Given the description of an element on the screen output the (x, y) to click on. 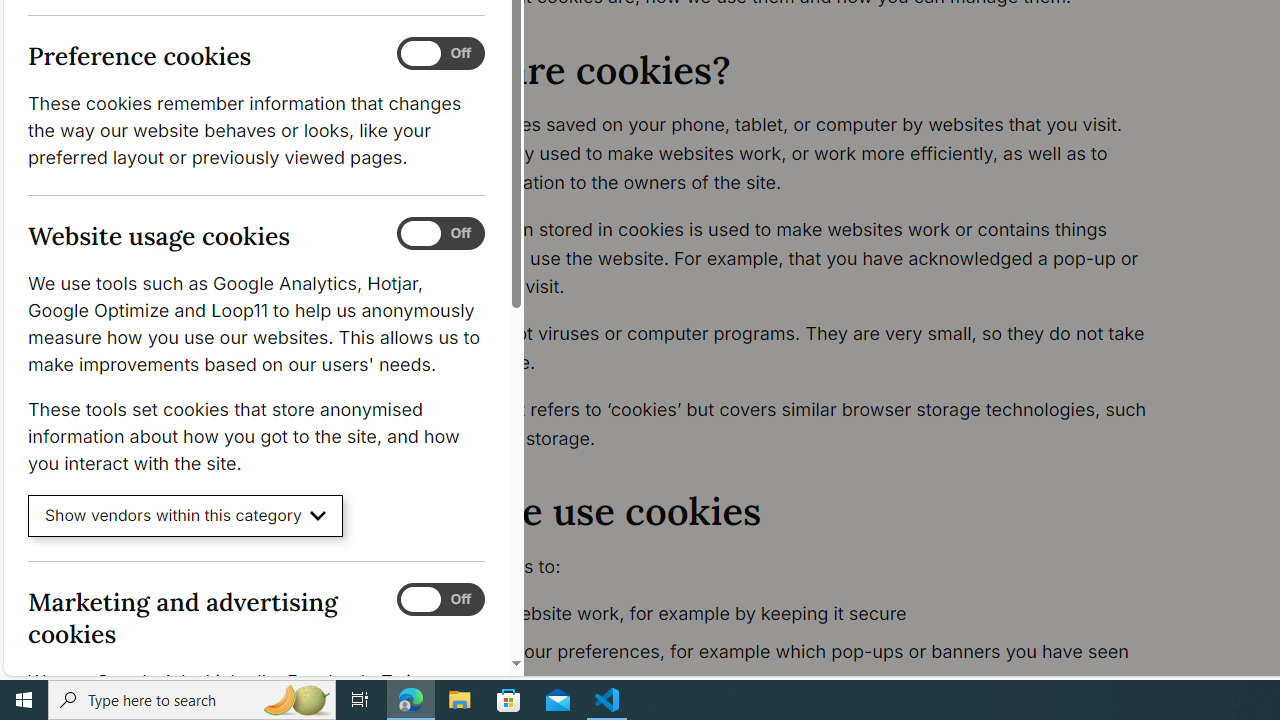
Preference cookies (440, 53)
Show vendors within this category (185, 516)
Marketing and advertising cookies (440, 599)
make our website work, for example by keeping it secure (796, 614)
Website usage cookies (440, 233)
